Given the description of an element on the screen output the (x, y) to click on. 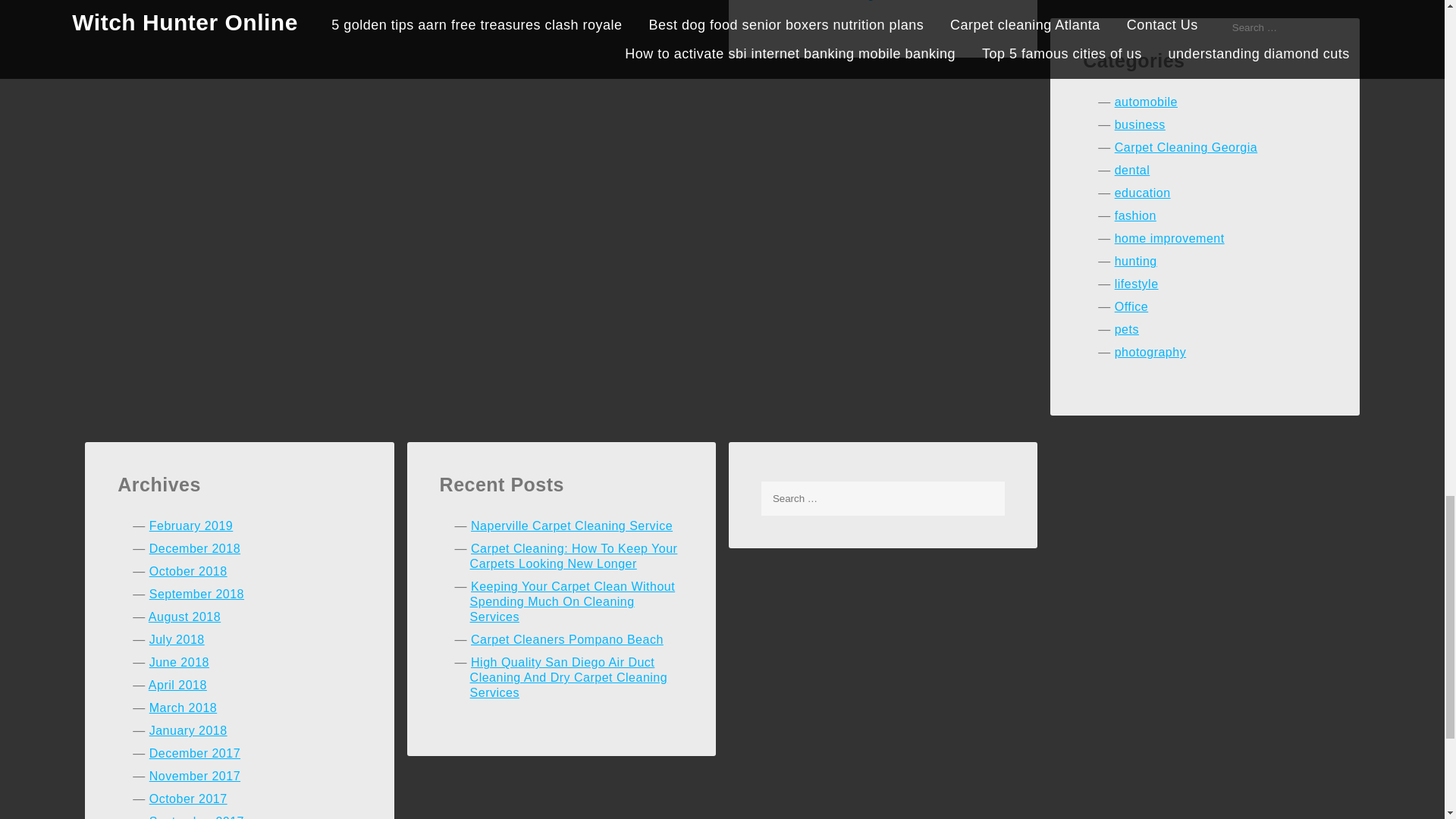
pets (1126, 328)
lifestyle (1136, 283)
hunting (1136, 260)
December 2018 (194, 548)
home improvement (1169, 237)
October 2018 (188, 571)
photography (1150, 351)
education (1142, 192)
business (1140, 124)
dental (1132, 169)
Carpet Cleaning Georgia (1186, 146)
fashion (1135, 215)
February 2019 (190, 525)
September 2018 (196, 594)
Office (1131, 306)
